Given the description of an element on the screen output the (x, y) to click on. 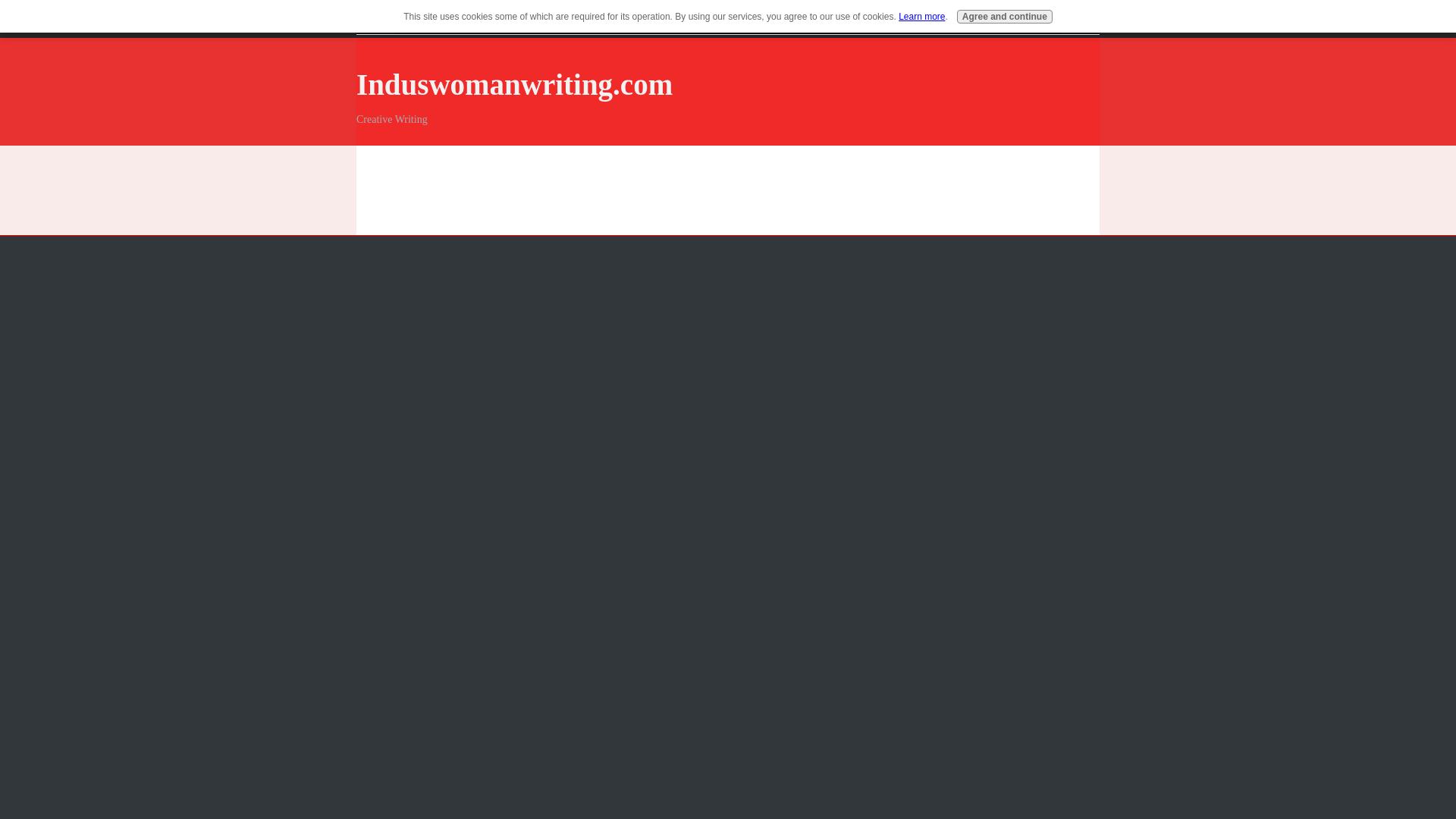
Induswomanwriting.com (514, 83)
HOME (417, 19)
SUBMISSION (569, 19)
